Given the description of an element on the screen output the (x, y) to click on. 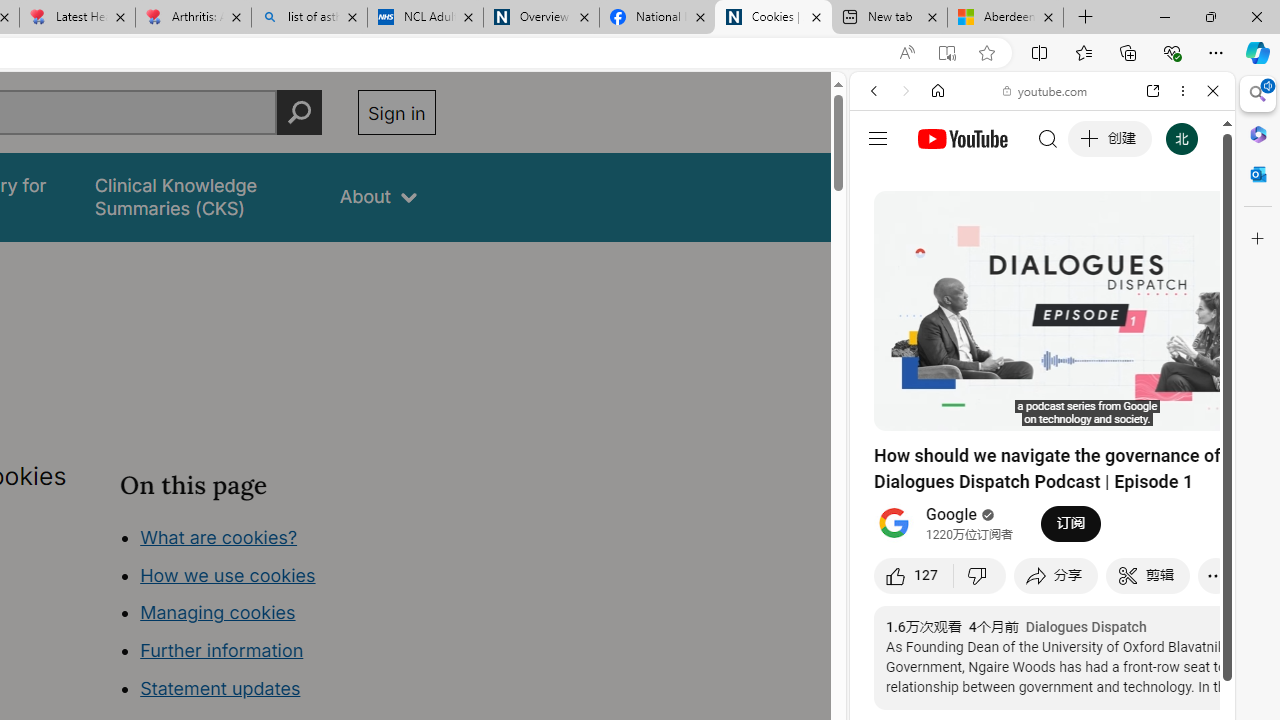
Managing cookies (217, 612)
Google (1042, 494)
How we use cookies (227, 574)
Music (1042, 543)
Trailer #2 [HD] (1042, 594)
